Given the description of an element on the screen output the (x, y) to click on. 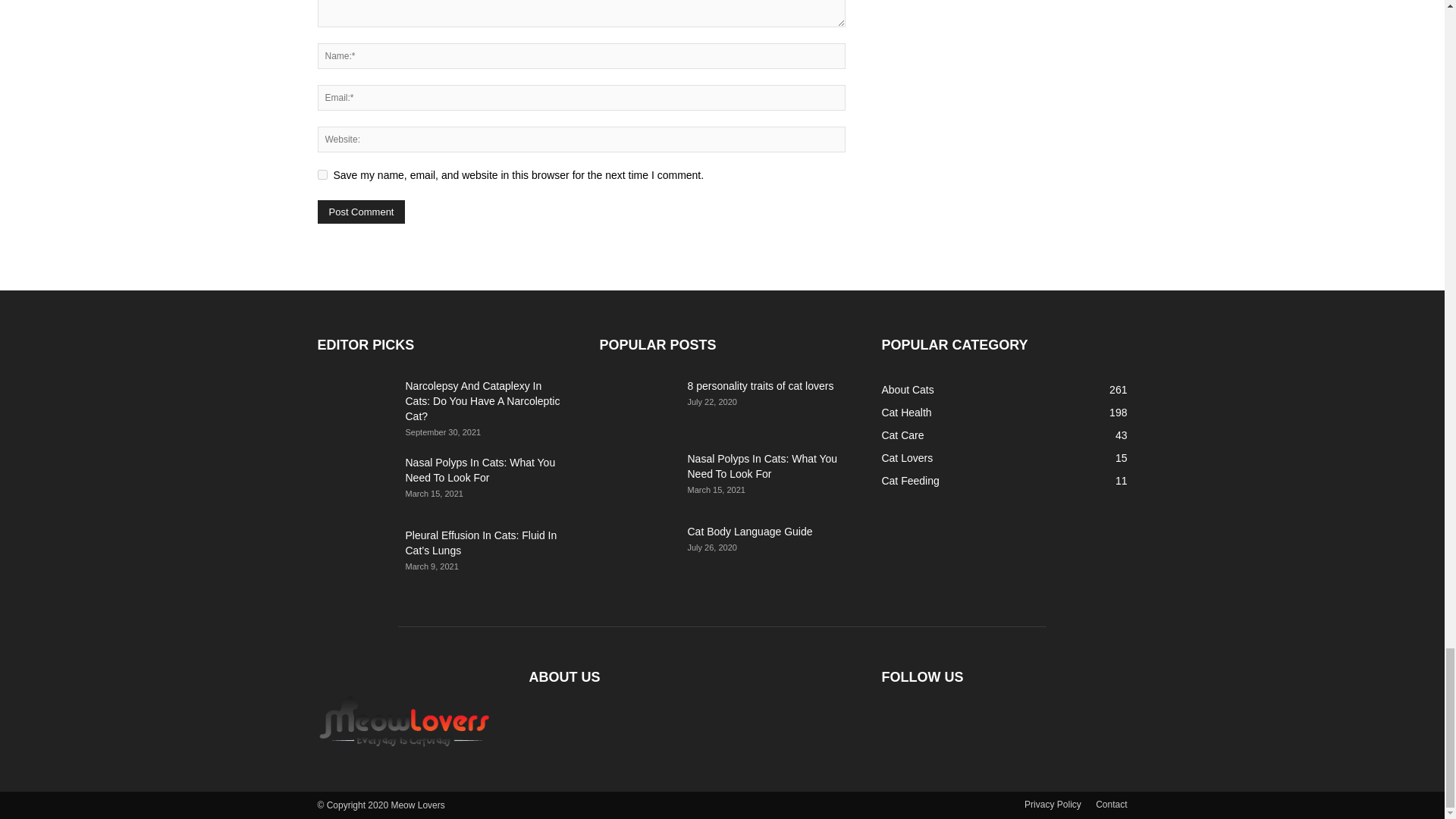
yes (321, 174)
Post Comment (360, 211)
Nasal Polyps In Cats: What You Need To Look For (355, 481)
